Given the description of an element on the screen output the (x, y) to click on. 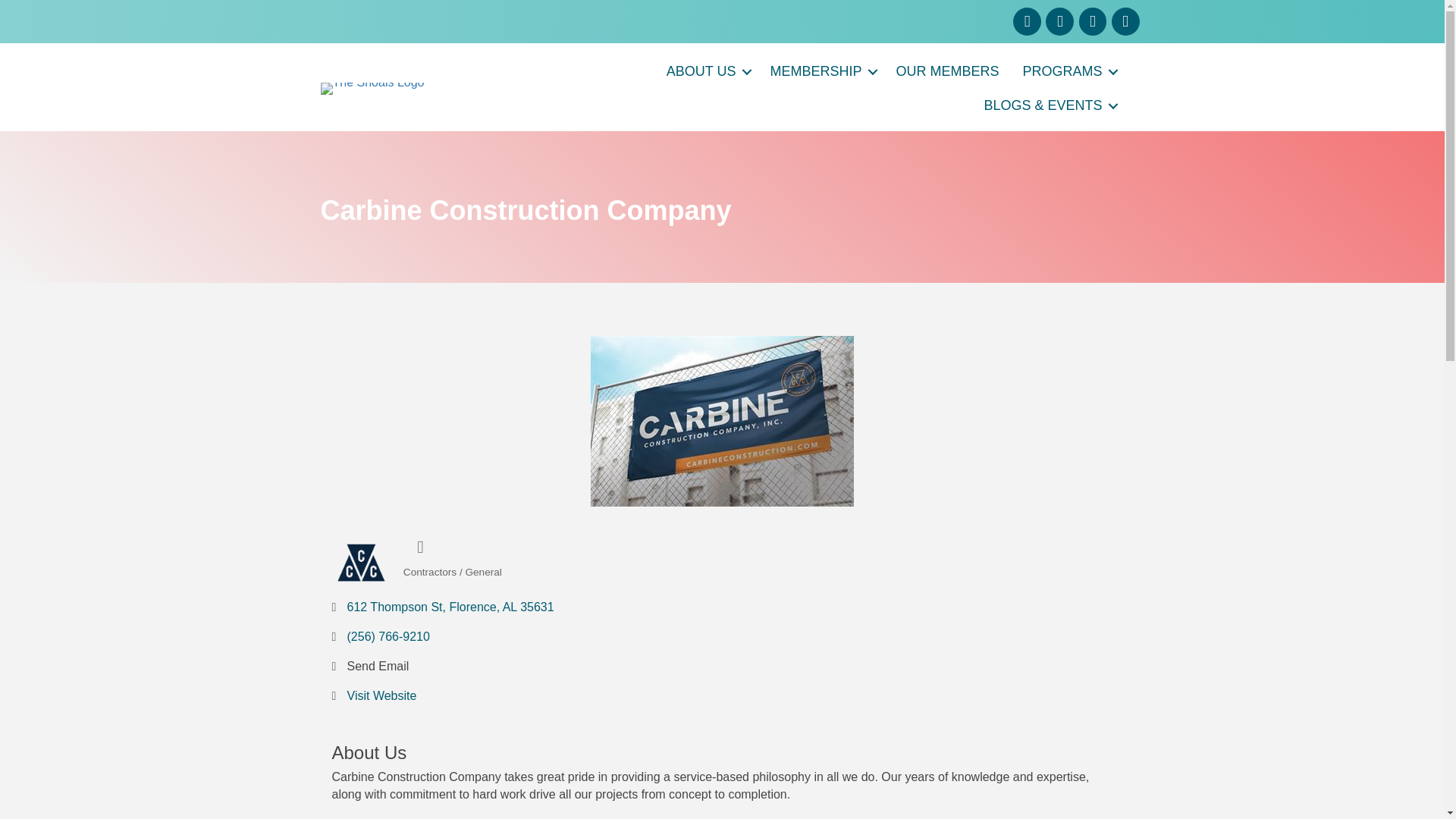
Visit Website (381, 695)
Carbine Construction Company (361, 561)
Carbine Construction Company (722, 420)
Send Email (378, 666)
OUR MEMBERS (946, 71)
MEMBERSHIP (820, 71)
612 Thompson St Florence AL 35631 (450, 606)
ABOUT US (706, 71)
PROGRAMS (1067, 71)
